Given the description of an element on the screen output the (x, y) to click on. 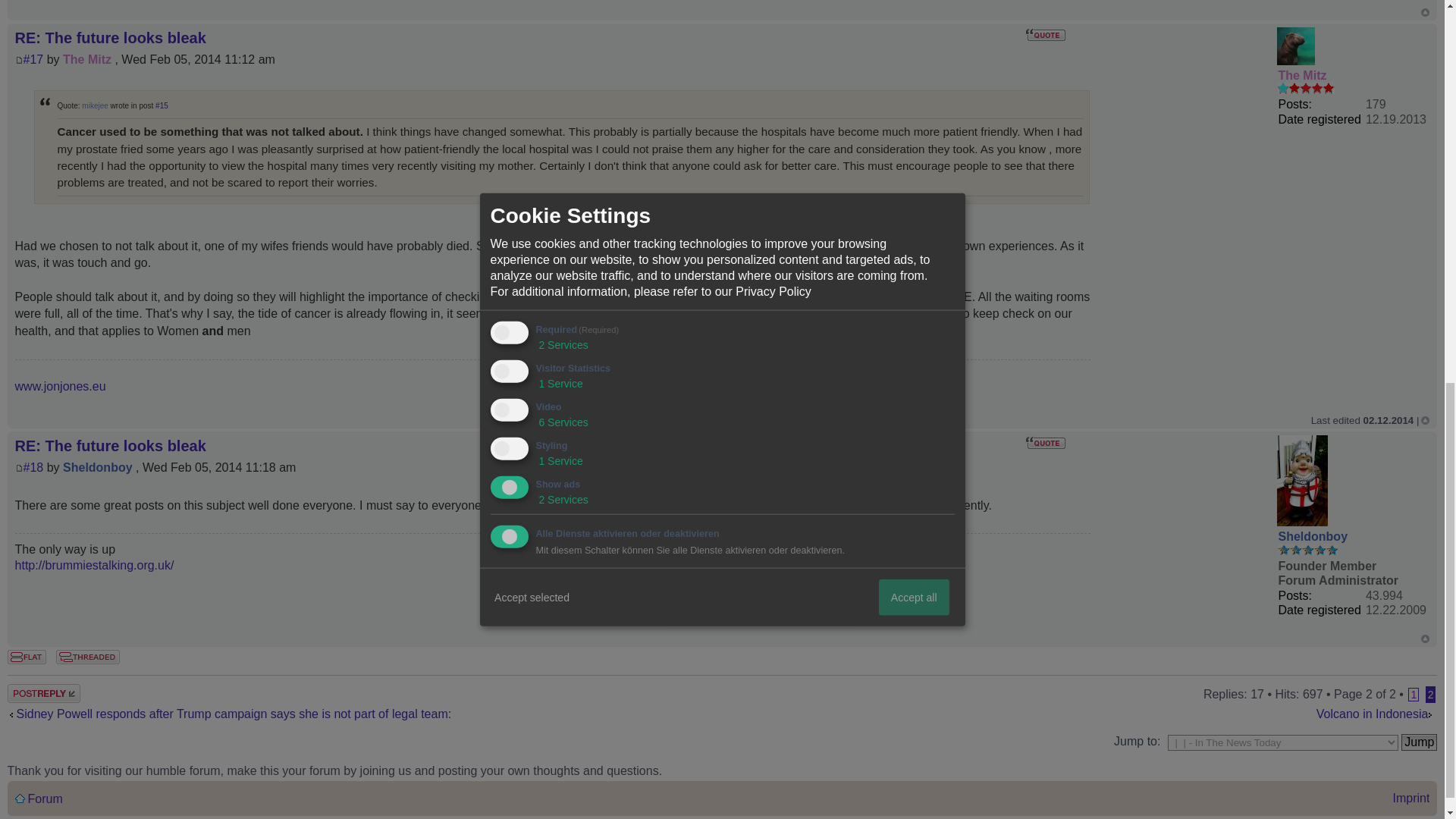
Jump (1418, 742)
Top (1425, 638)
RE: The future looks bleak (110, 37)
Top (1425, 12)
mikejee (94, 105)
RE: The future looks bleak (33, 59)
Show only one post (87, 657)
Sheldonboy (97, 467)
Top (1425, 420)
www.jonjones.eu (60, 386)
Top (1425, 420)
reply (53, 692)
Top (1425, 638)
Top (1425, 12)
RE: The future looks bleak (110, 445)
